Given the description of an element on the screen output the (x, y) to click on. 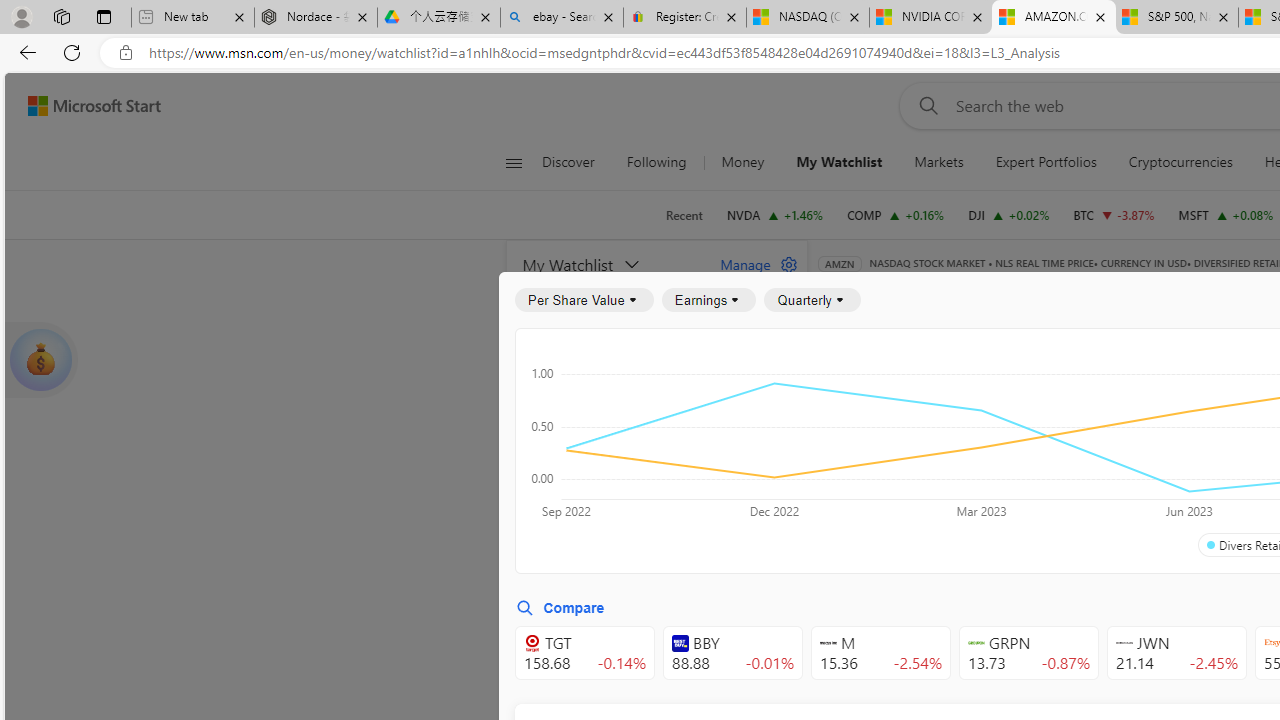
Skip to content (86, 105)
Expert Portfolios (1046, 162)
Expert Portfolios (1045, 162)
Discover (575, 162)
Register: Create a personal eBay account (684, 17)
Profitability (1164, 445)
Markets (938, 162)
ebay - Search (561, 17)
Skip to footer (82, 105)
Open navigation menu (513, 162)
Cryptocurrencies (1179, 162)
